Given the description of an element on the screen output the (x, y) to click on. 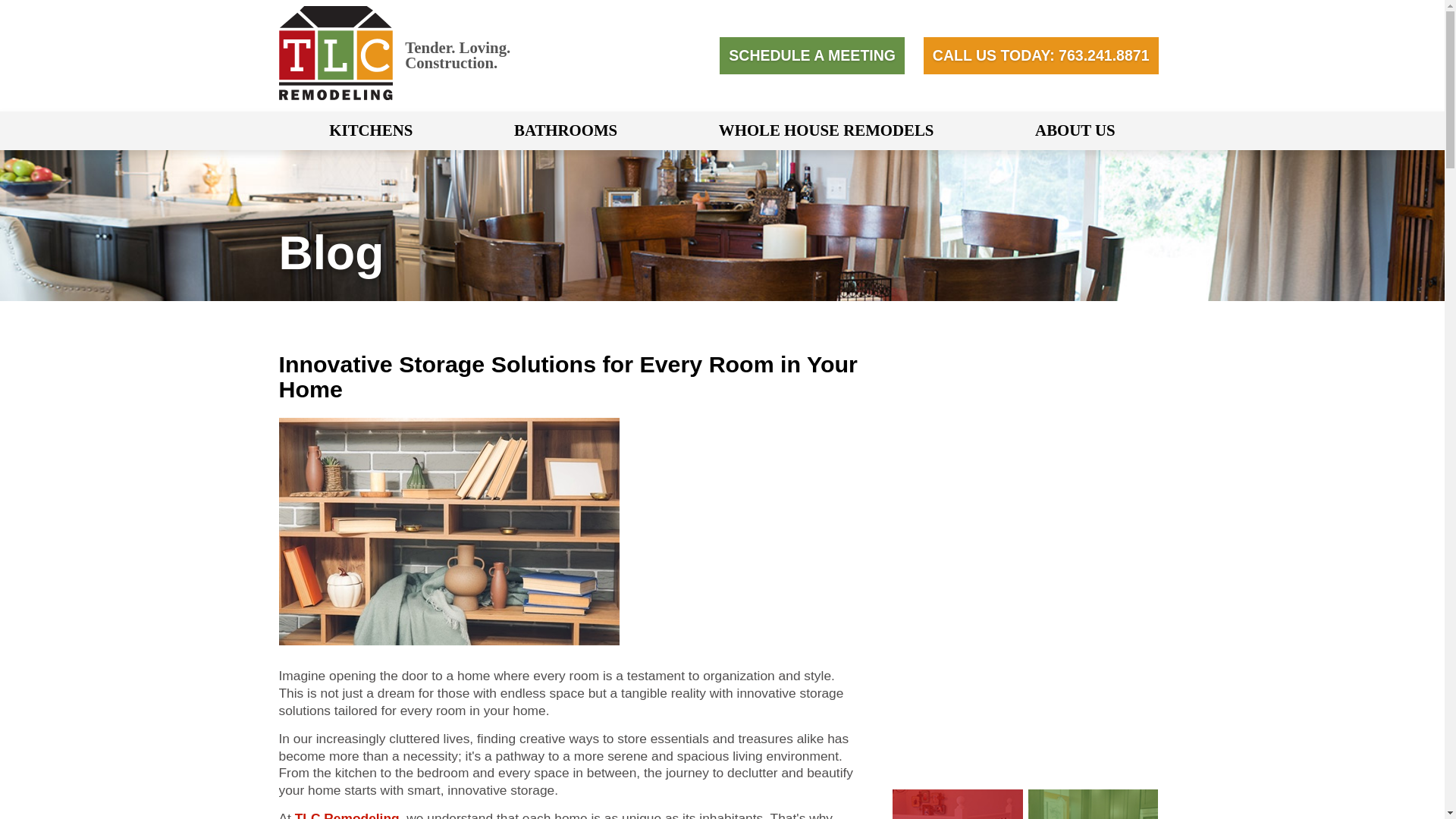
TLC Remodeling (336, 52)
CALL US TODAY: 763.241.8871 (1040, 55)
Schedule a Meeting (811, 55)
Kitchens (370, 130)
TLC Remodeling (336, 95)
Whole House Remodels (826, 130)
Bathrooms (565, 130)
ABOUT US (1074, 130)
KITCHENS (370, 130)
BATHROOMS (565, 130)
